Given the description of an element on the screen output the (x, y) to click on. 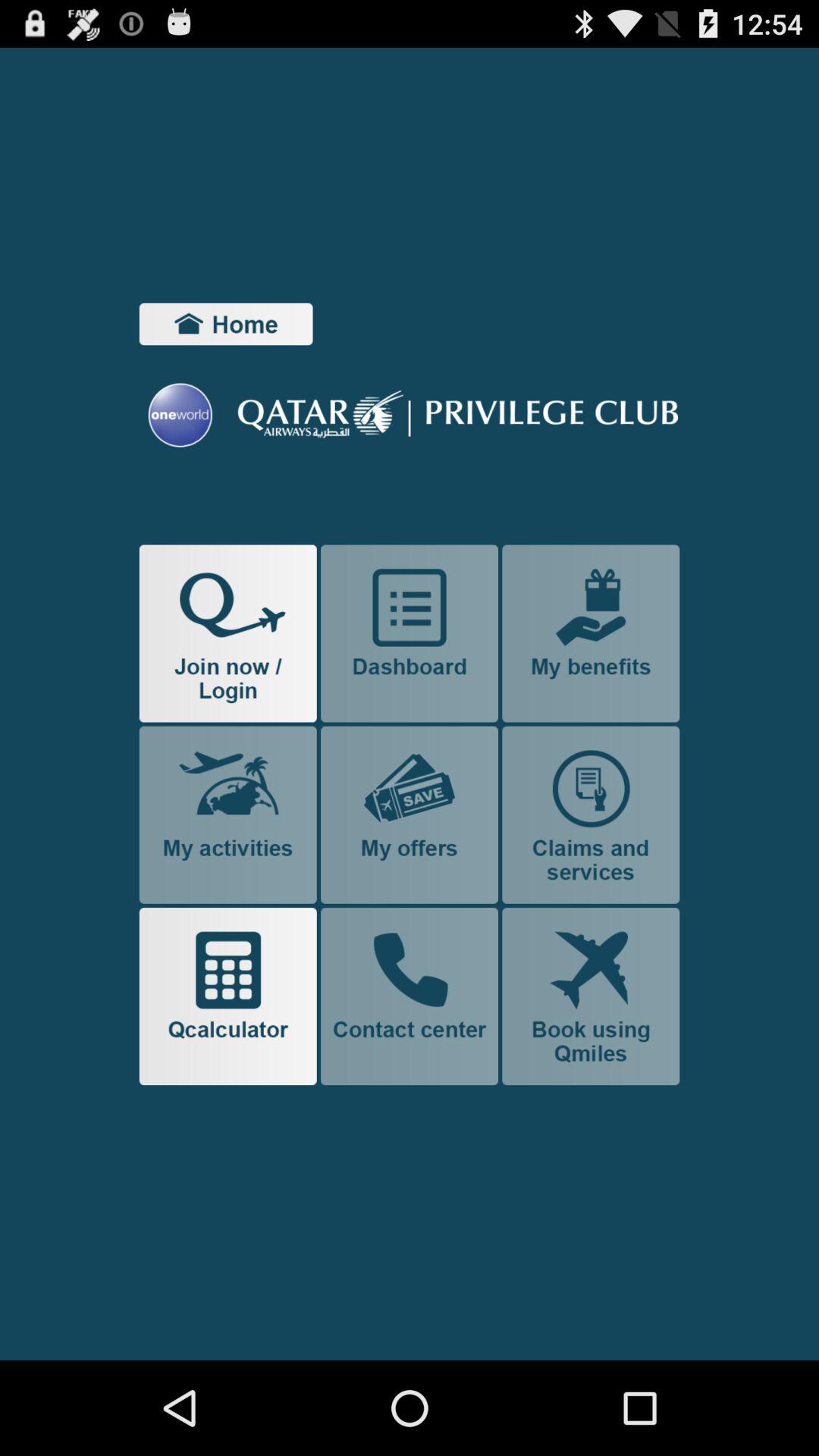
navigate the app (590, 633)
